Given the description of an element on the screen output the (x, y) to click on. 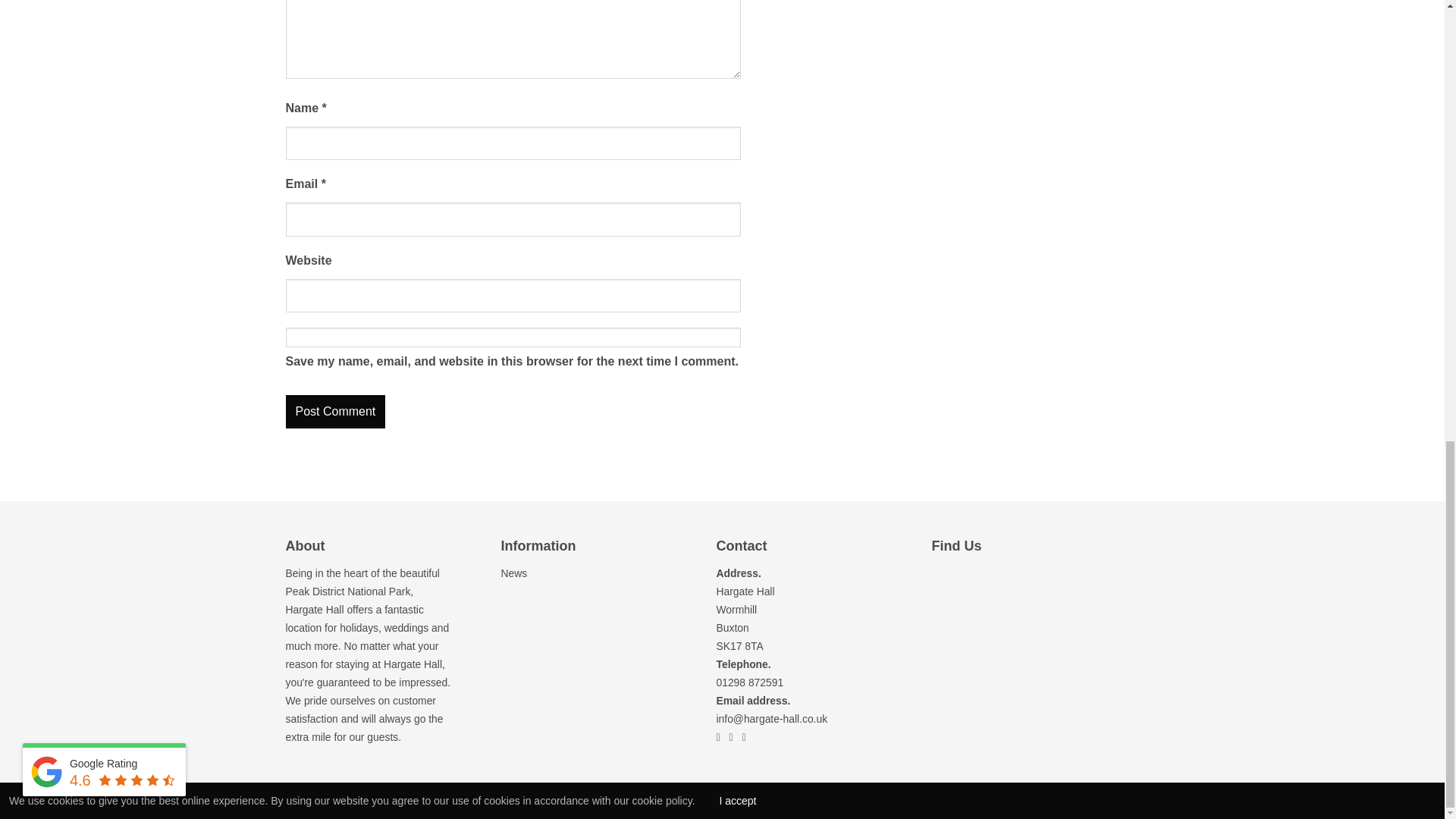
yes (512, 337)
Post Comment (335, 411)
